Given the description of an element on the screen output the (x, y) to click on. 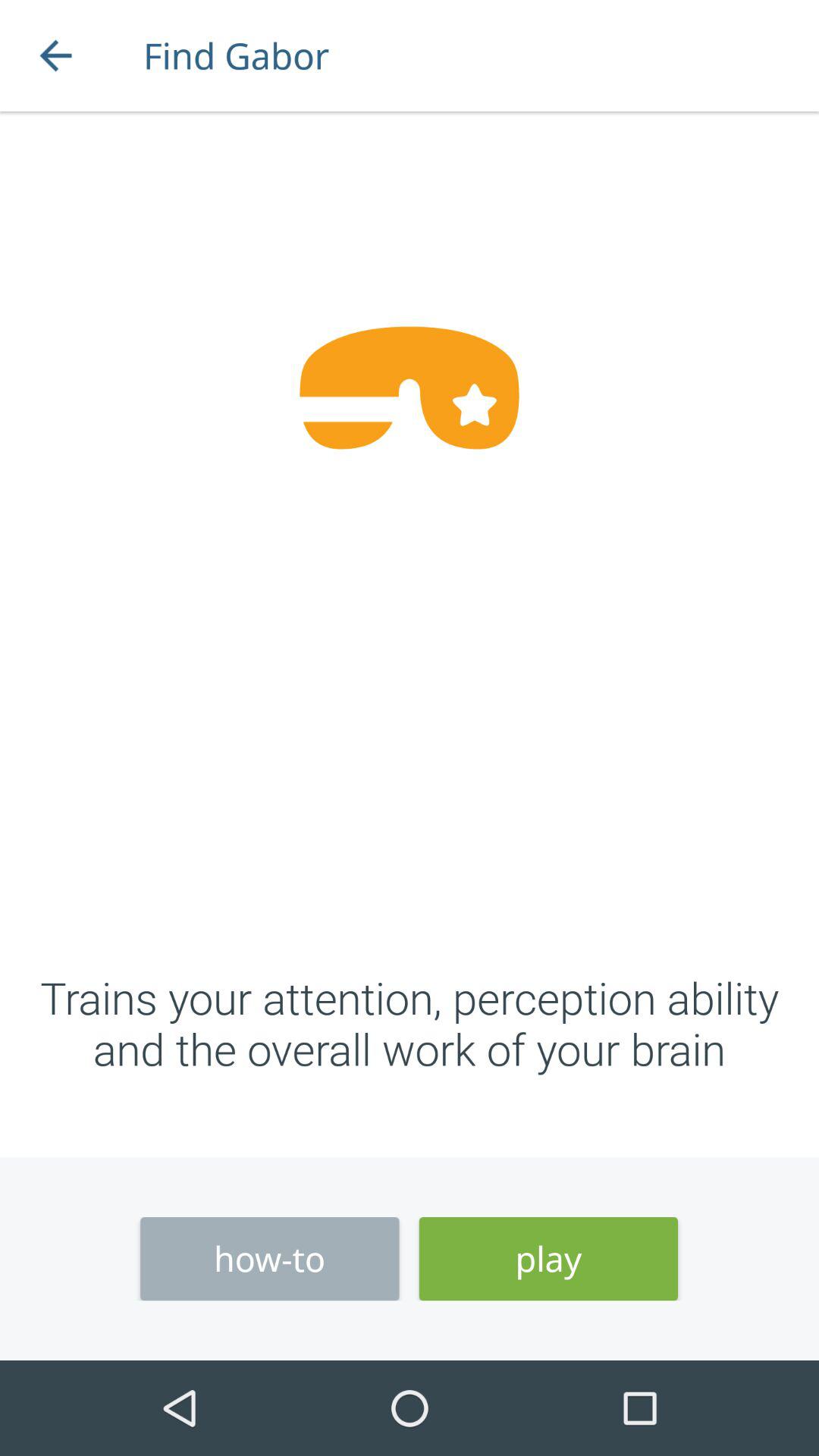
tap the icon to the right of how-to item (548, 1258)
